Given the description of an element on the screen output the (x, y) to click on. 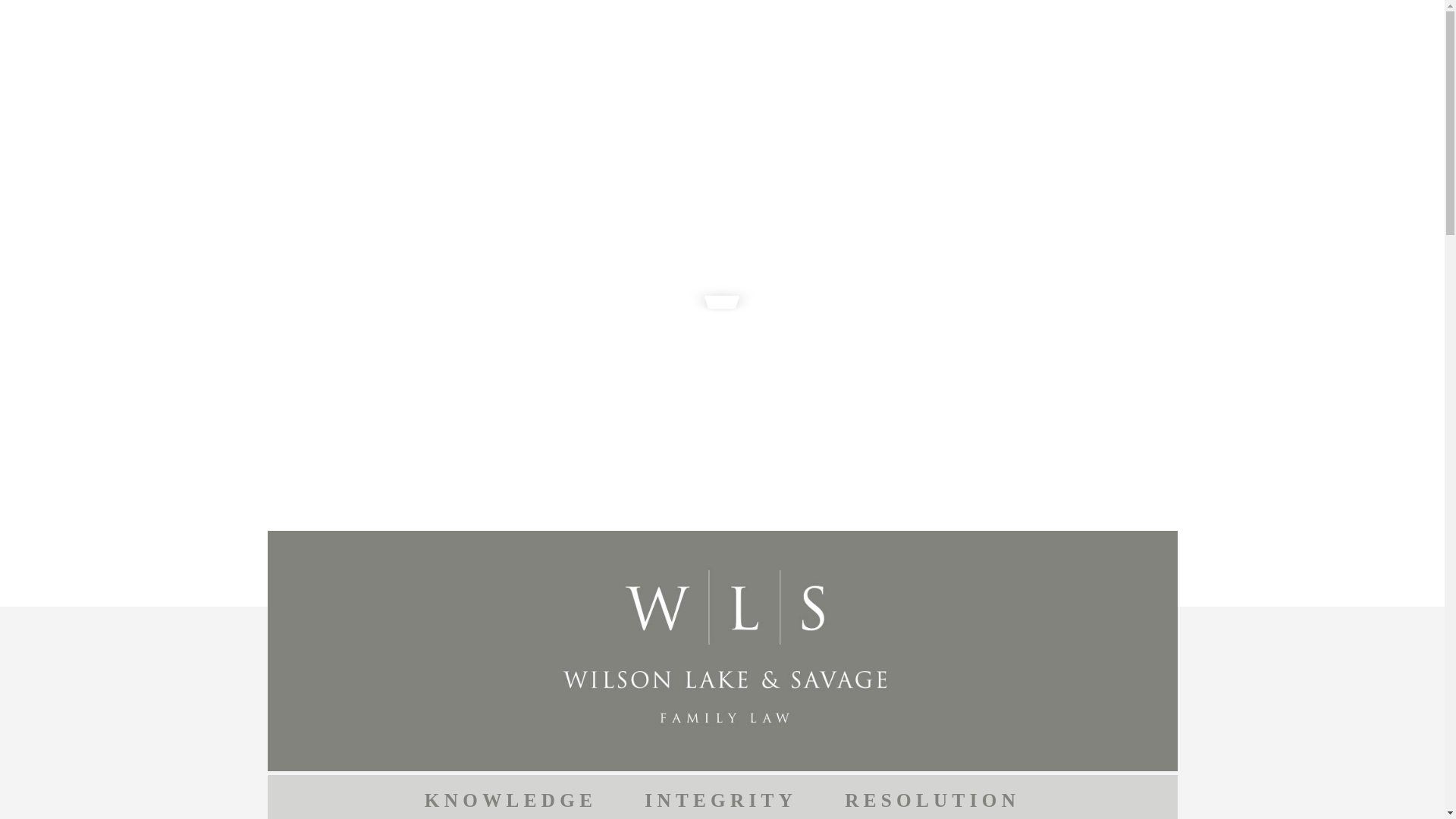
OUR TEAM (644, 22)
AREAS OF PRACTICE (772, 22)
HOME (567, 22)
CONTACT US (1096, 22)
